Given the description of an element on the screen output the (x, y) to click on. 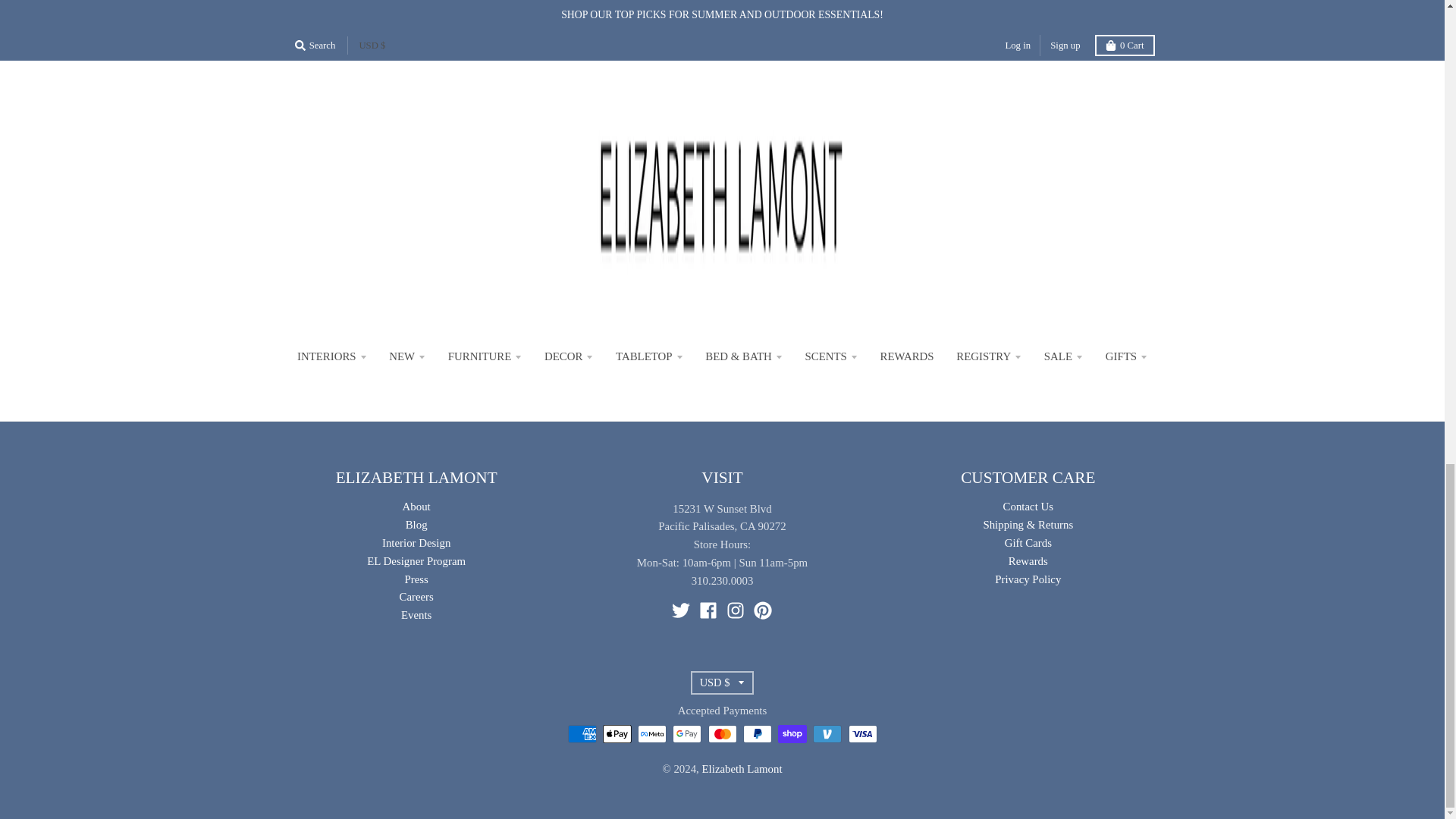
Twitter - Elizabeth Lamont (680, 610)
Facebook - Elizabeth Lamont (707, 610)
Instagram - Elizabeth Lamont (735, 610)
Pinterest - Elizabeth Lamont (762, 610)
